Given the description of an element on the screen output the (x, y) to click on. 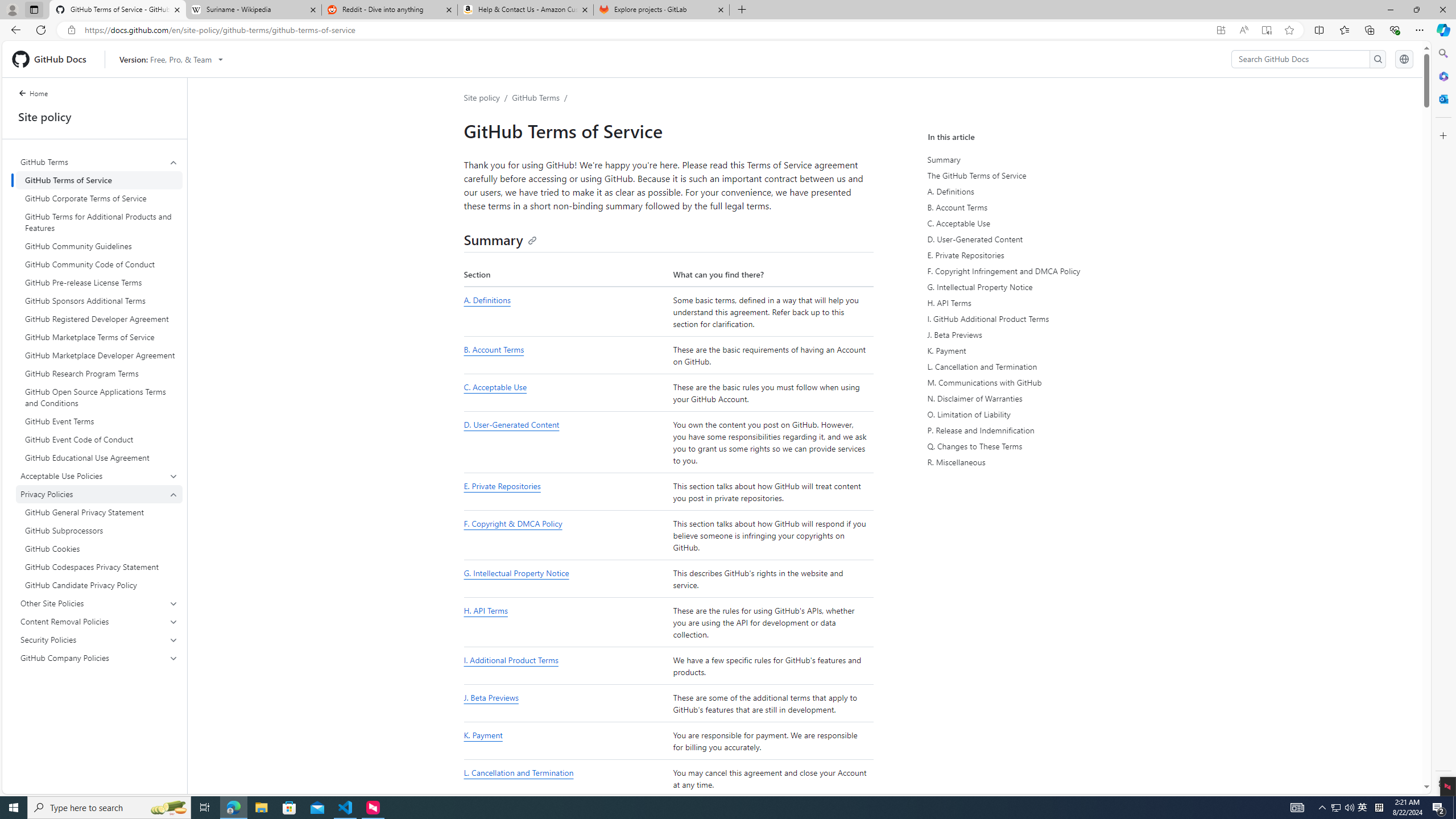
GitHub Event Code of Conduct (99, 439)
I. GitHub Additional Product Terms (1034, 318)
GitHub Educational Use Agreement (99, 457)
E. Private Repositories (1032, 255)
GitHub Terms of Service (99, 180)
GitHub Candidate Privacy Policy (99, 584)
I. GitHub Additional Product Terms (1032, 318)
GitHub Docs (53, 58)
GitHub Open Source Applications Terms and Conditions (99, 396)
A. Definitions (487, 300)
